Given the description of an element on the screen output the (x, y) to click on. 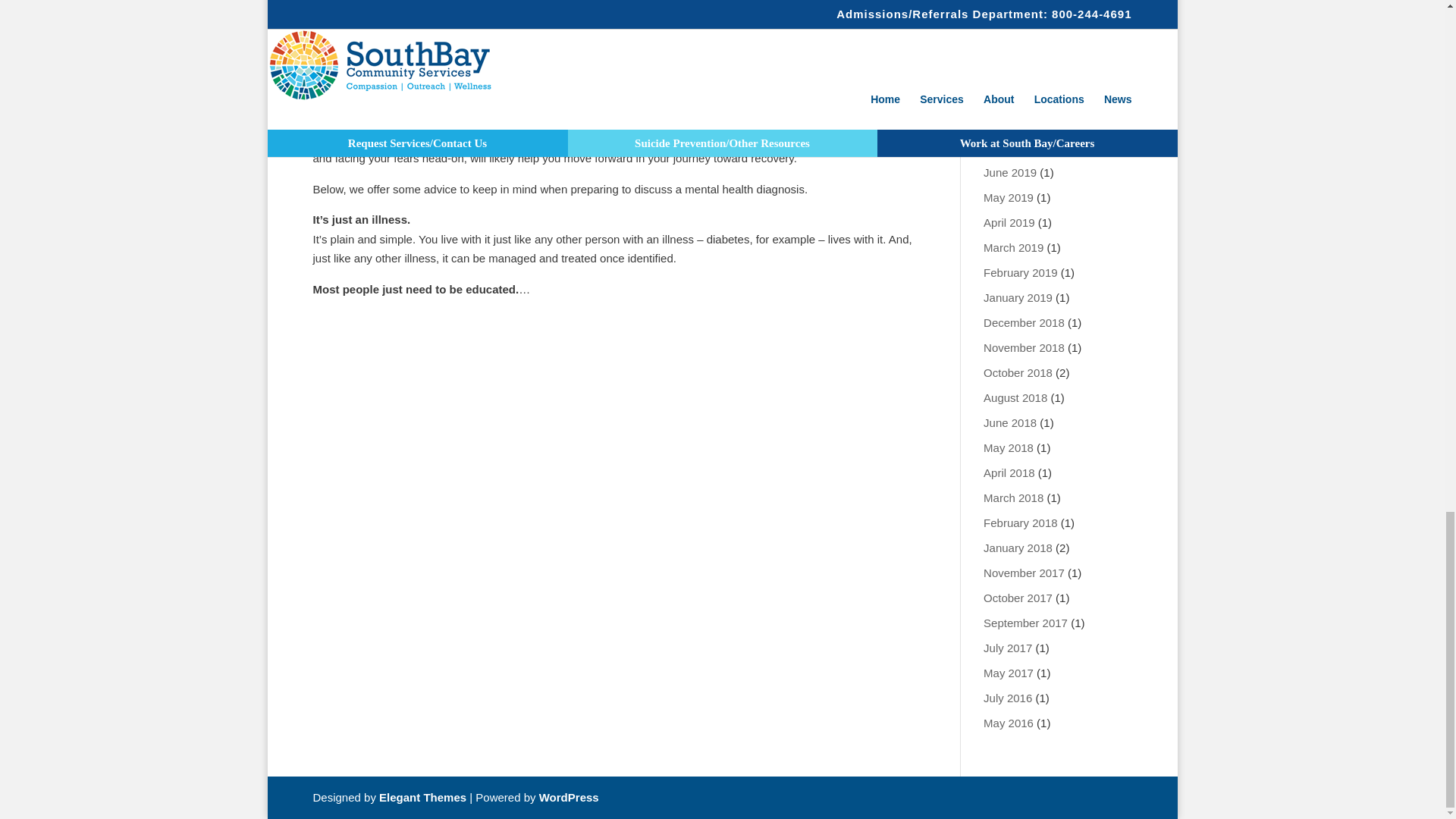
Premium WordPress Themes (421, 797)
